Given the description of an element on the screen output the (x, y) to click on. 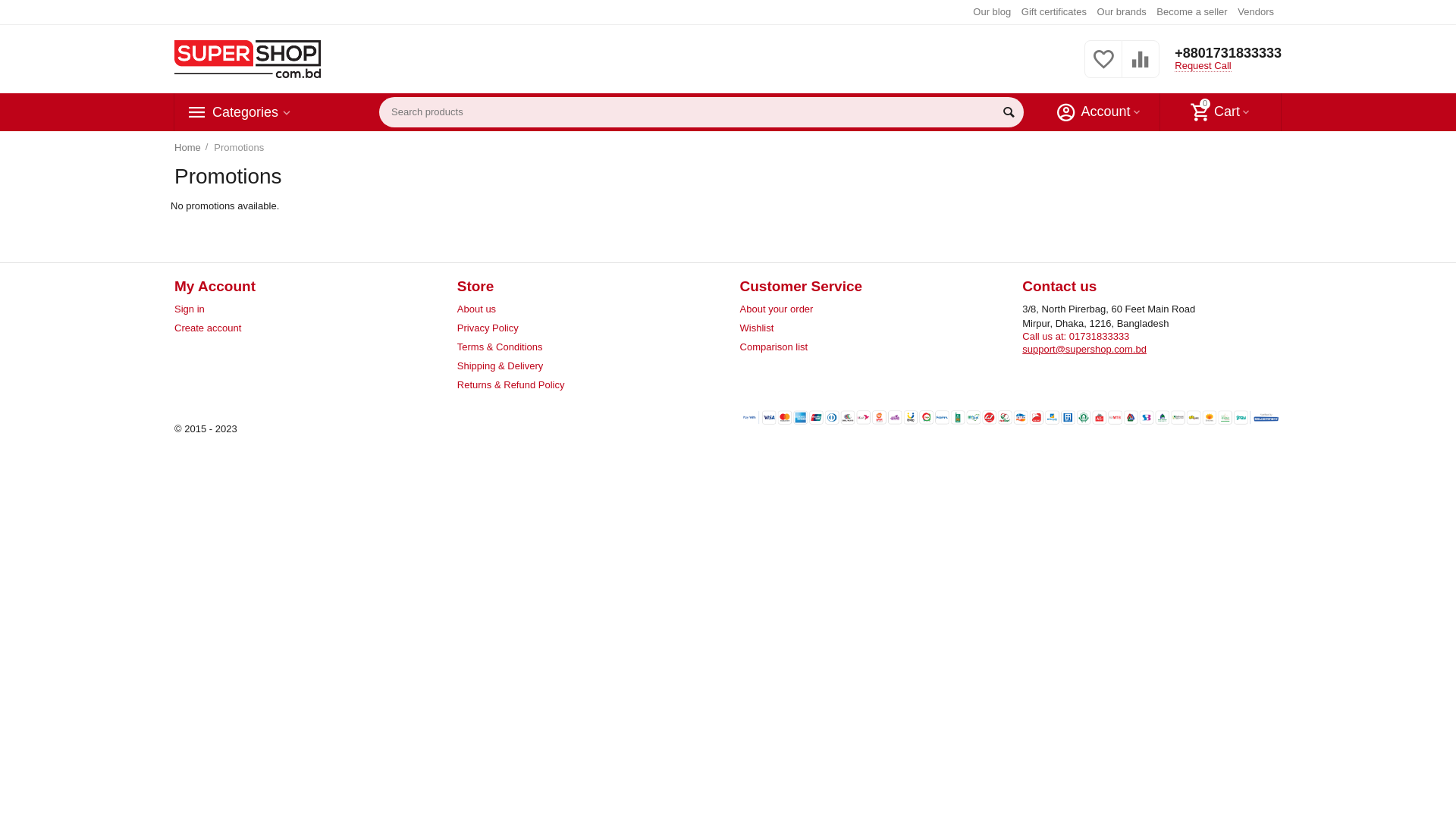
About your order Element type: text (776, 308)
+8801731833333 Element type: text (1227, 52)
Search products Element type: hover (701, 112)
About us Element type: text (476, 308)
Privacy Policy Element type: text (487, 327)
Returns & Refund Policy Element type: text (510, 384)
Our brands Element type: text (1121, 11)
Our blog Element type: text (991, 11)
Terms & Conditions Element type: text (499, 346)
Call us at: 01731833333 Element type: text (1075, 336)
Sign in Element type: text (189, 308)
Gift certificates Element type: text (1053, 11)
View wish list Element type: hover (1103, 67)
Account Element type: text (1098, 111)
supershop.com.bd Element type: hover (247, 59)
Vendors Element type: text (1255, 11)
Search Element type: hover (1008, 112)
Become a seller Element type: text (1191, 11)
Shipping & Delivery Element type: text (500, 365)
supershop.com.bd Element type: hover (247, 57)
0
Cart Element type: text (1220, 111)
Wishlist Element type: text (757, 327)
View Comparison list Element type: hover (1140, 67)
support@supershop.com.bd Element type: text (1084, 348)
Categories Element type: text (245, 112)
Home Element type: text (187, 147)
Create account Element type: text (207, 327)
Request Call Element type: text (1202, 65)
Comparison list Element type: text (774, 346)
